Given the description of an element on the screen output the (x, y) to click on. 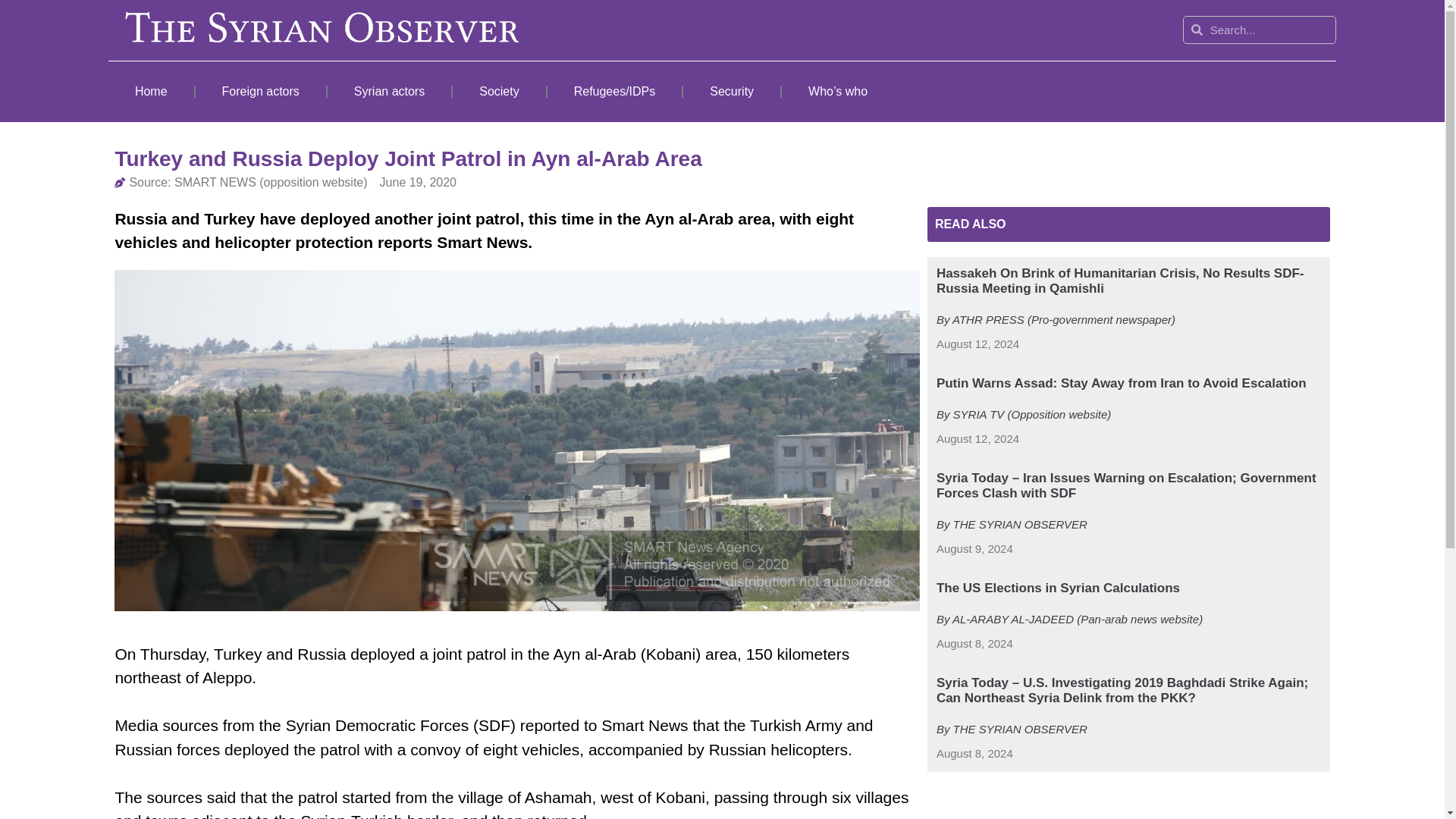
Home (150, 91)
Security (731, 91)
August 9, 2024 (974, 548)
Society (498, 91)
Syrian actors (389, 91)
Foreign actors (260, 91)
The US Elections in Syrian Calculations (1057, 587)
Putin Warns Assad: Stay Away from Iran to Avoid Escalation (1121, 382)
August 12, 2024 (977, 343)
August 8, 2024 (974, 643)
